Given the description of an element on the screen output the (x, y) to click on. 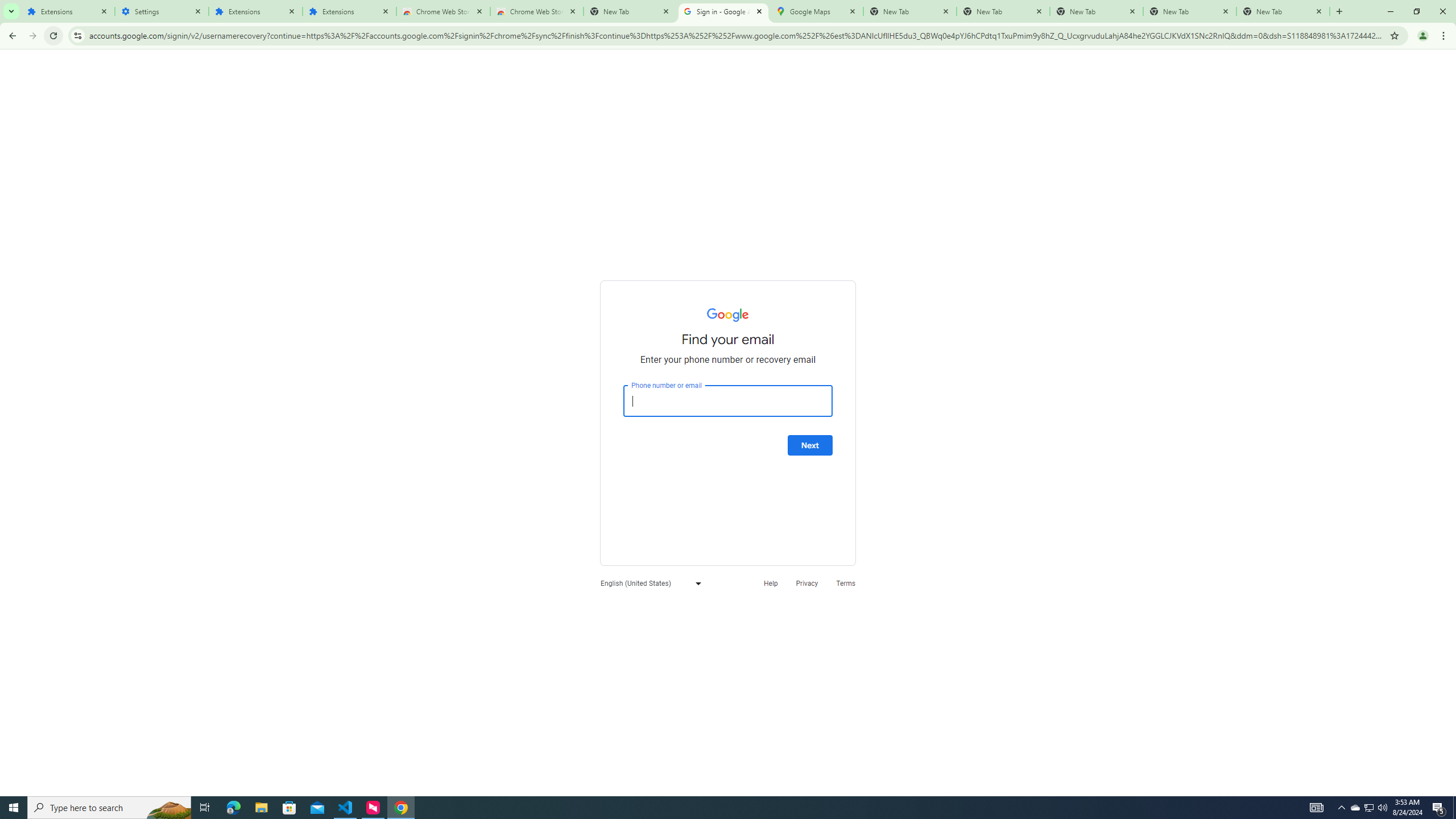
Extensions (349, 11)
Sign in - Google Accounts (722, 11)
Extensions (255, 11)
New Tab (1283, 11)
Extensions (67, 11)
Address and search bar (735, 35)
Next (809, 445)
